Given the description of an element on the screen output the (x, y) to click on. 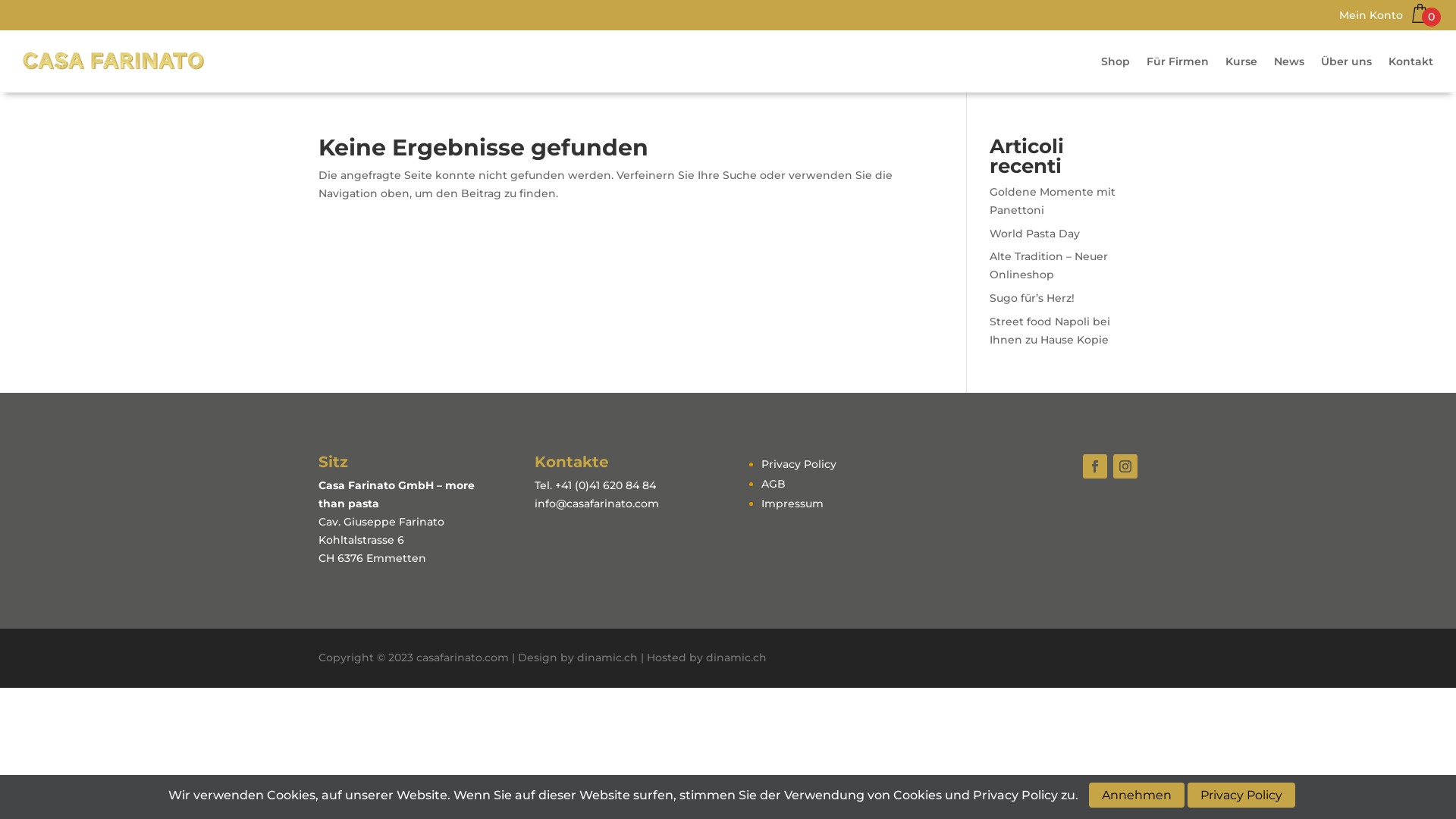
Shop Element type: text (1115, 61)
Annehmen Element type: text (1136, 794)
Impressum Element type: text (792, 503)
AGB Element type: text (773, 483)
Privacy Policy Element type: text (798, 463)
Privacy Policy Element type: text (1241, 794)
info@casafarinato.com Element type: text (596, 503)
Folge auf Instagram Element type: hover (1125, 466)
Mein Konto Element type: text (1370, 17)
World Pasta Day Element type: text (1034, 233)
News Element type: text (1289, 61)
Folge auf Facebook Element type: hover (1094, 466)
Goldene Momente mit Panettoni Element type: text (1052, 200)
Kontakt Element type: text (1410, 61)
Tel. +41 (0)41 620 84 84 Element type: text (594, 485)
Street food Napoli bei Ihnen zu Hause Kopie Element type: text (1049, 330)
Kurse Element type: text (1241, 61)
